Given the description of an element on the screen output the (x, y) to click on. 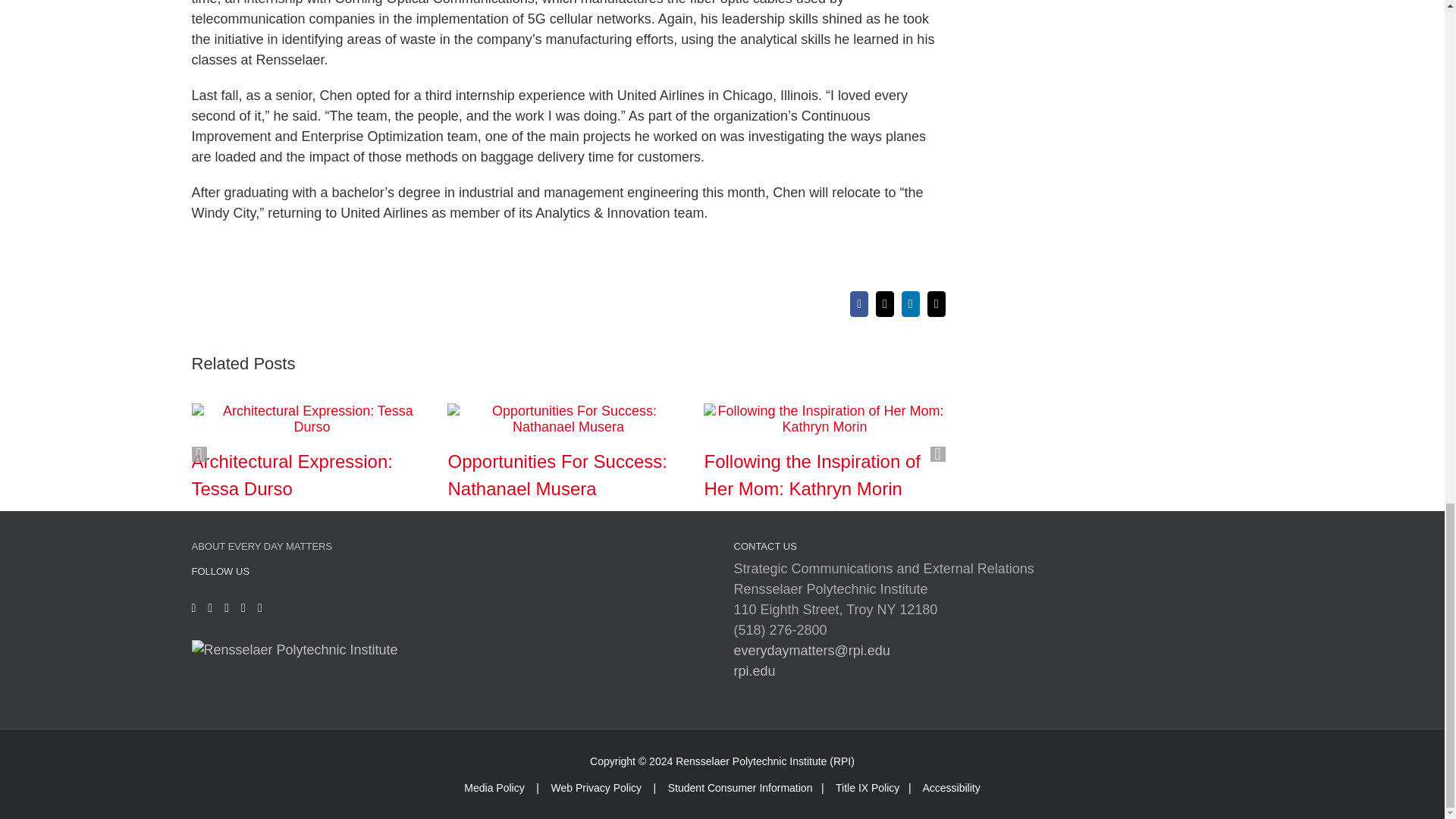
Opportunities For Success: Nathanael Musera (556, 474)
Architectural Expression: Tessa Durso (290, 474)
Opportunities For Success: Nathanael Musera (556, 474)
Architectural Expression: Tessa Durso (290, 474)
